Given the description of an element on the screen output the (x, y) to click on. 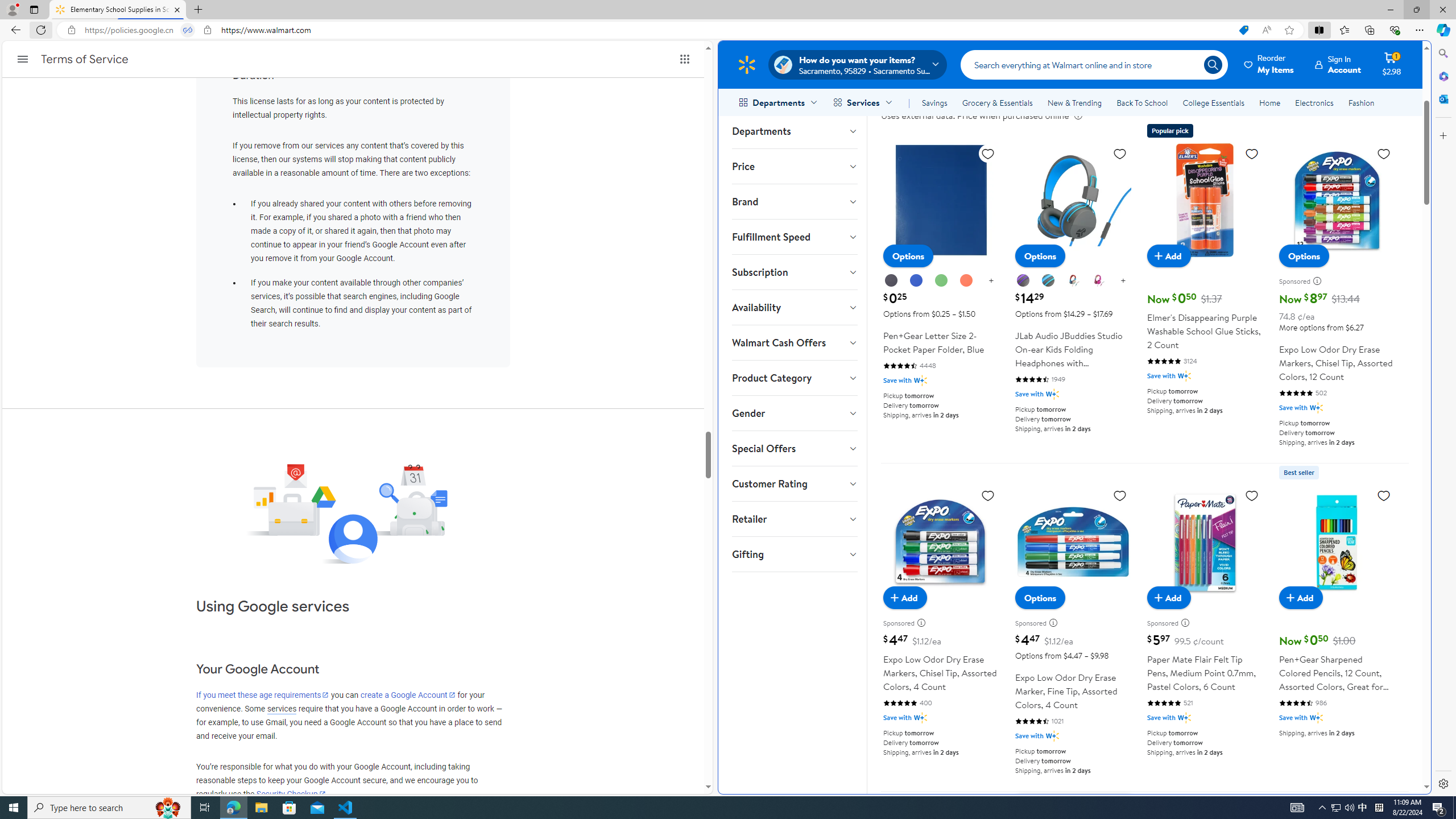
Grocery & Essentials (997, 102)
Fulfillment Speed (794, 236)
Orange (965, 280)
Gender (794, 412)
Price (794, 166)
Gray (1048, 280)
College Essentials (1213, 102)
Fulfillment Speed (794, 236)
